Given the description of an element on the screen output the (x, y) to click on. 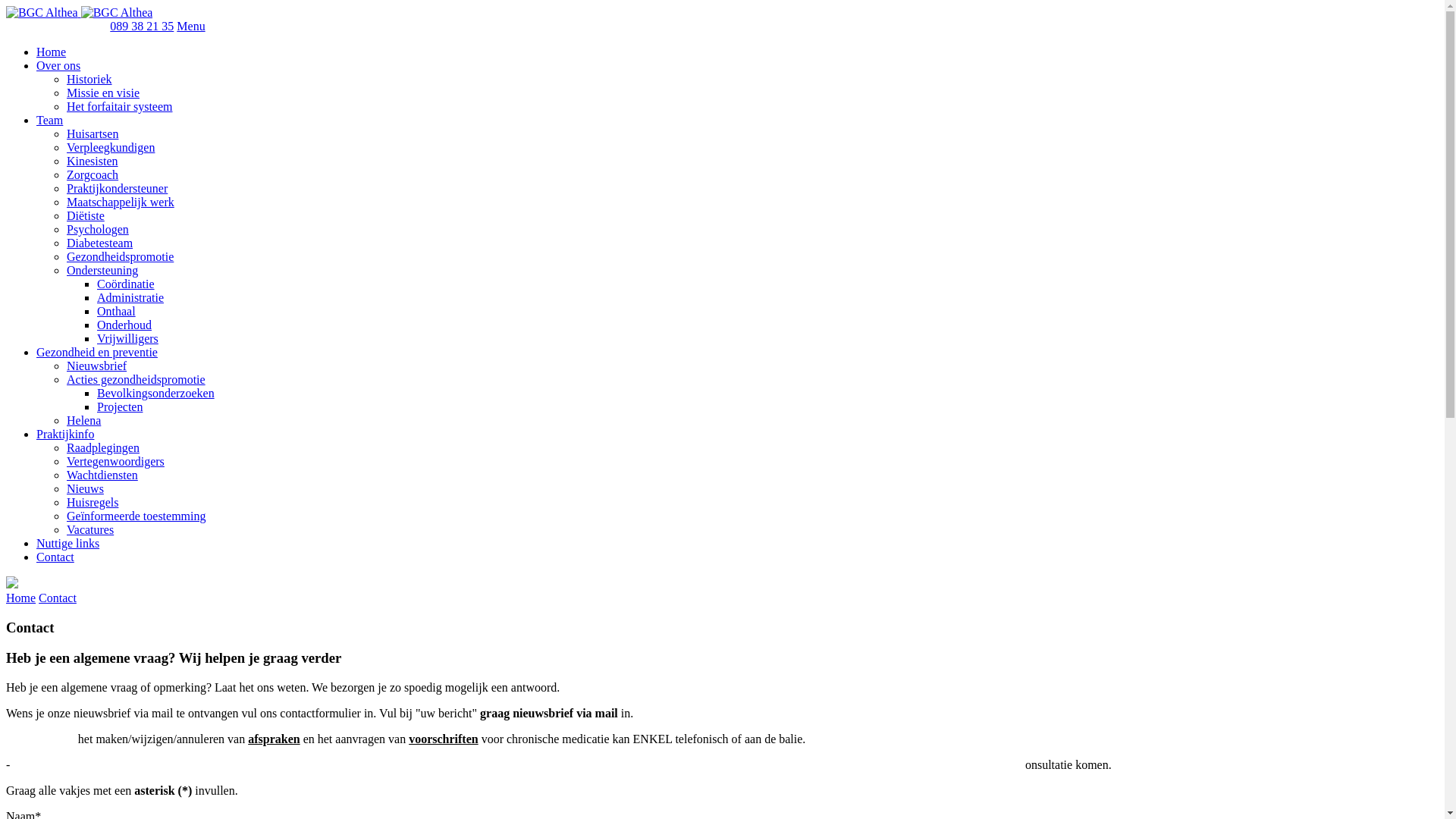
Praktijkondersteuner Element type: text (116, 188)
Verpleegkundigen Element type: text (110, 147)
Ondersteuning Element type: text (102, 269)
Bezoek BGC Zenia Element type: text (53, 25)
Nieuwsbrief Element type: text (96, 365)
Onthaal Element type: text (116, 310)
Vrijwilligers Element type: text (127, 338)
Huisregels Element type: text (92, 501)
Praktijkinfo Element type: text (65, 433)
Gezondheidspromotie Element type: text (119, 256)
Home Element type: text (20, 597)
Over ons Element type: text (58, 65)
Missie en visie Element type: text (102, 92)
Onderhoud Element type: text (124, 324)
Historiek Element type: text (89, 78)
Nuttige links Element type: text (67, 542)
Team Element type: text (49, 119)
Diabetesteam Element type: text (99, 242)
Maatschappelijk werk Element type: text (120, 201)
Psychologen Element type: text (97, 228)
Wachtdiensten Element type: text (102, 474)
Huisartsen Element type: text (92, 133)
Het forfaitair systeem Element type: text (119, 106)
Bevolkingsonderzoeken Element type: text (155, 392)
Zorgcoach Element type: text (92, 174)
Vertegenwoordigers Element type: text (115, 461)
Contact Element type: text (55, 556)
Administratie Element type: text (130, 297)
Helena Element type: text (83, 420)
Nieuws Element type: text (84, 488)
Contact Element type: text (57, 597)
089 38 21 35 Element type: text (141, 25)
Gezondheid en preventie Element type: text (96, 351)
Home Element type: text (50, 51)
Raadplegingen Element type: text (102, 447)
Projecten Element type: text (119, 406)
Kinesisten Element type: text (92, 160)
Acties gezondheidspromotie Element type: text (135, 379)
Menu Element type: text (190, 25)
Vacatures Element type: text (89, 529)
